Given the description of an element on the screen output the (x, y) to click on. 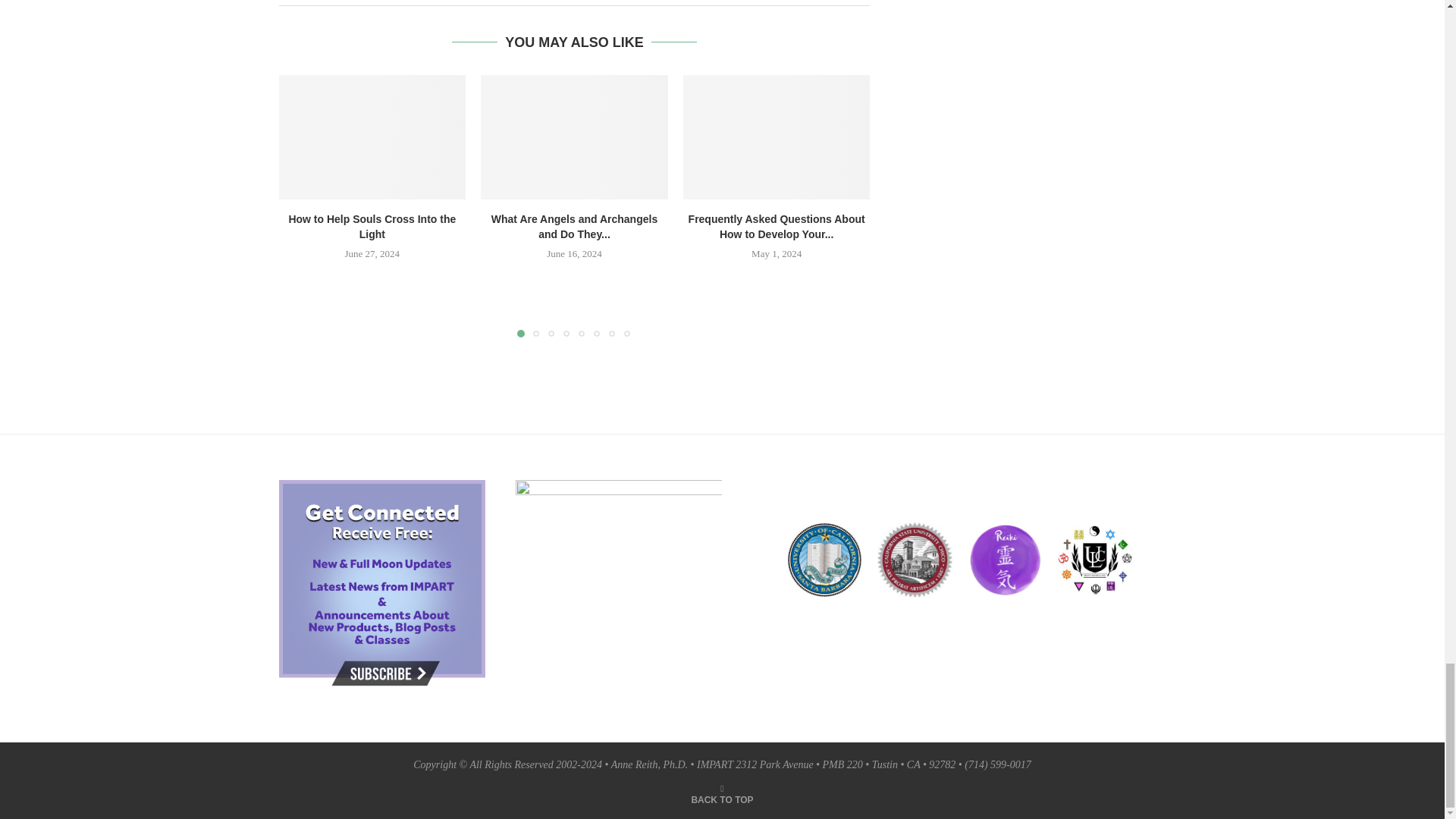
How to Help Souls Cross Into the Light (372, 137)
